Given the description of an element on the screen output the (x, y) to click on. 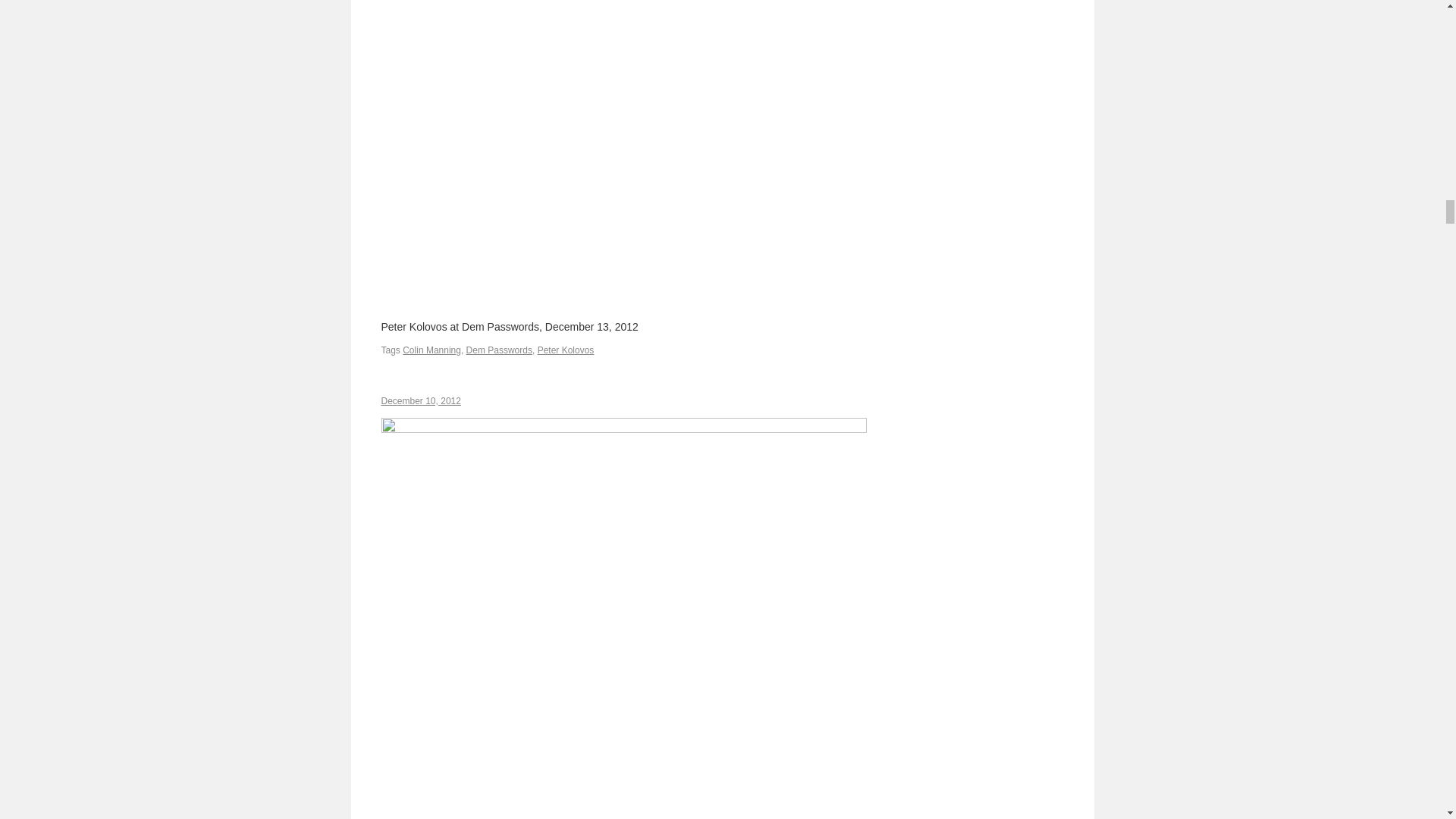
Dem Passwords (498, 349)
Peter Kolovos (565, 349)
Colin Manning (432, 349)
